Given the description of an element on the screen output the (x, y) to click on. 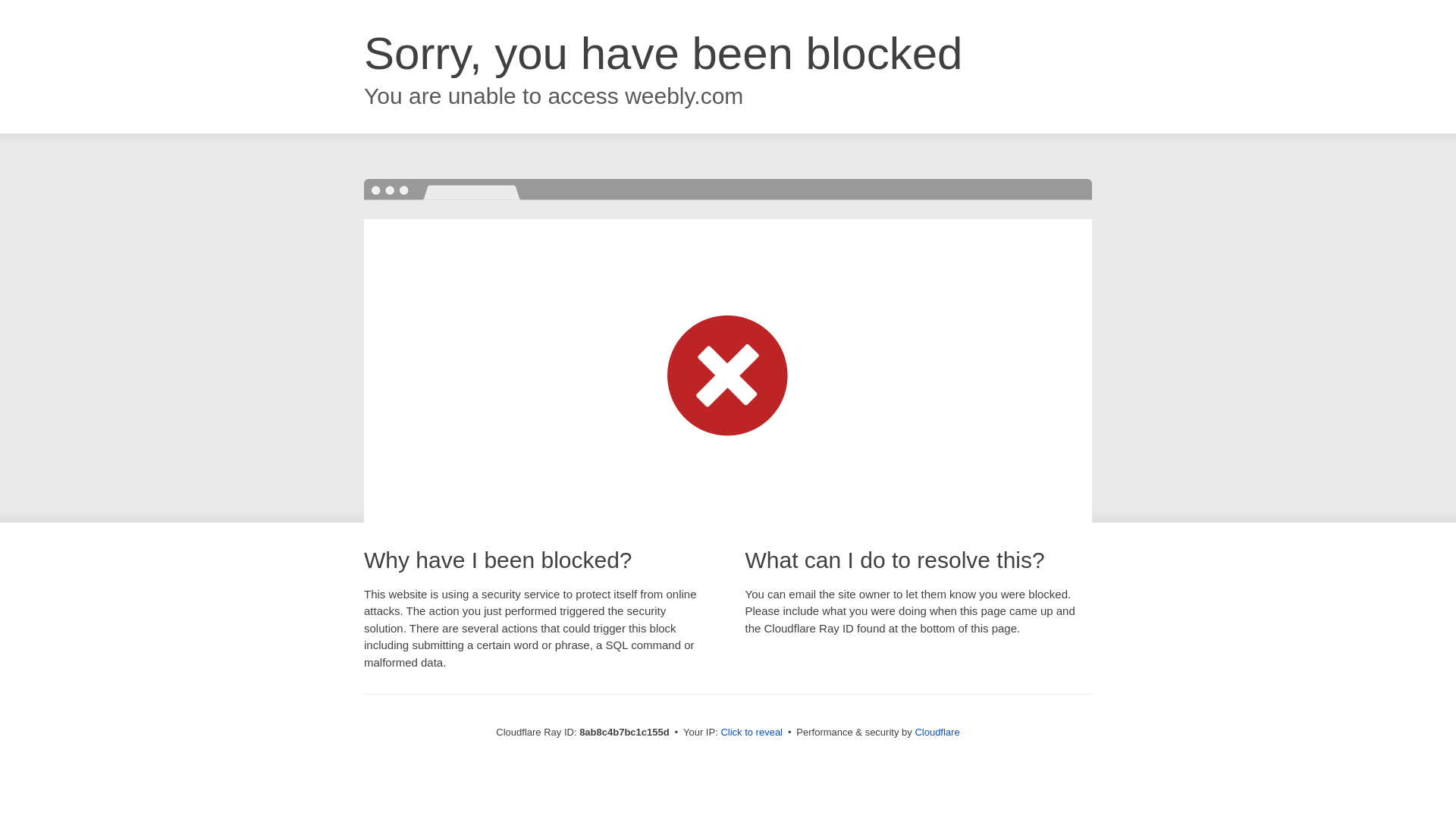
Click to reveal (751, 732)
Cloudflare (936, 731)
